Given the description of an element on the screen output the (x, y) to click on. 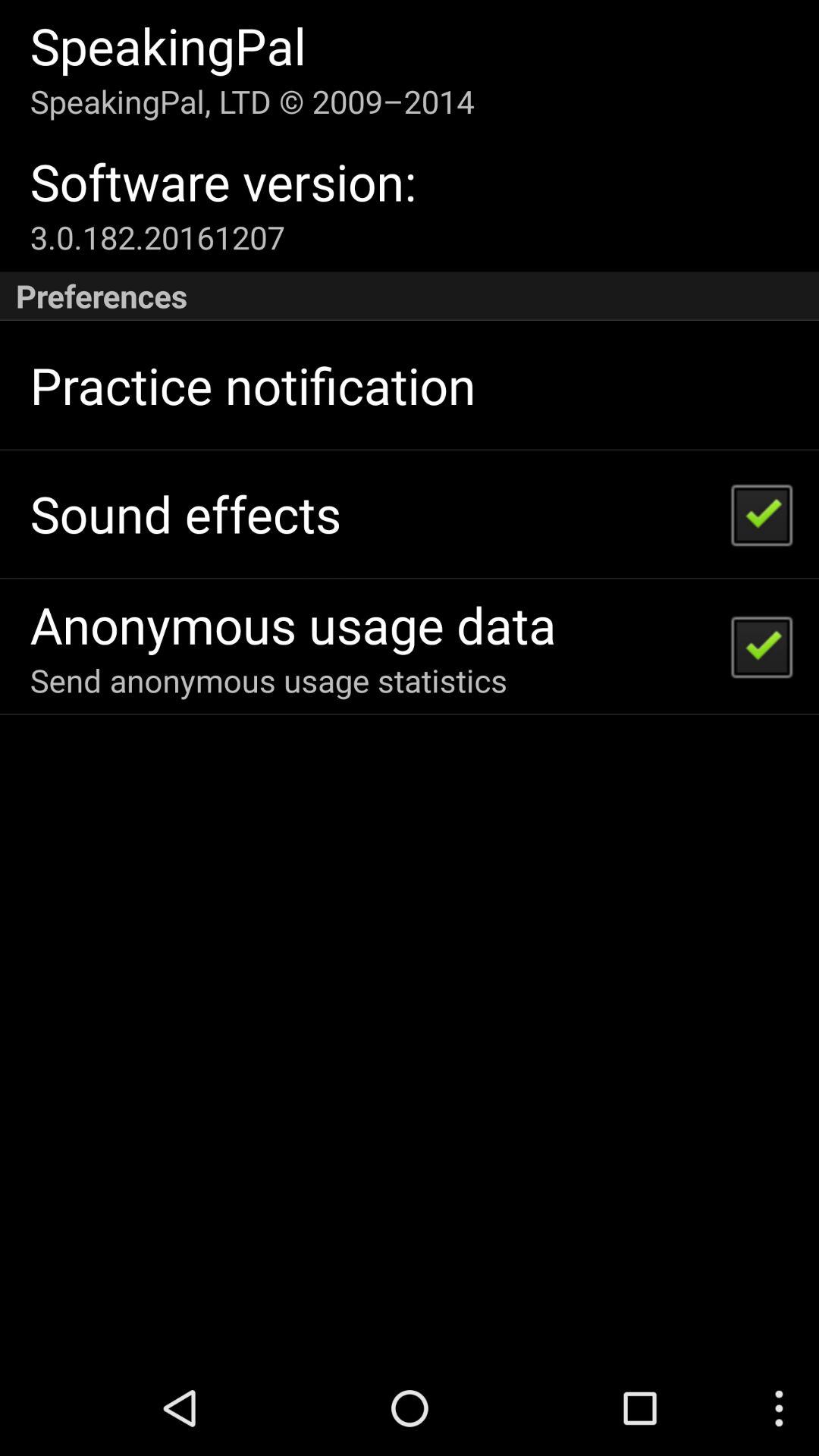
turn off the icon at the top (409, 295)
